Given the description of an element on the screen output the (x, y) to click on. 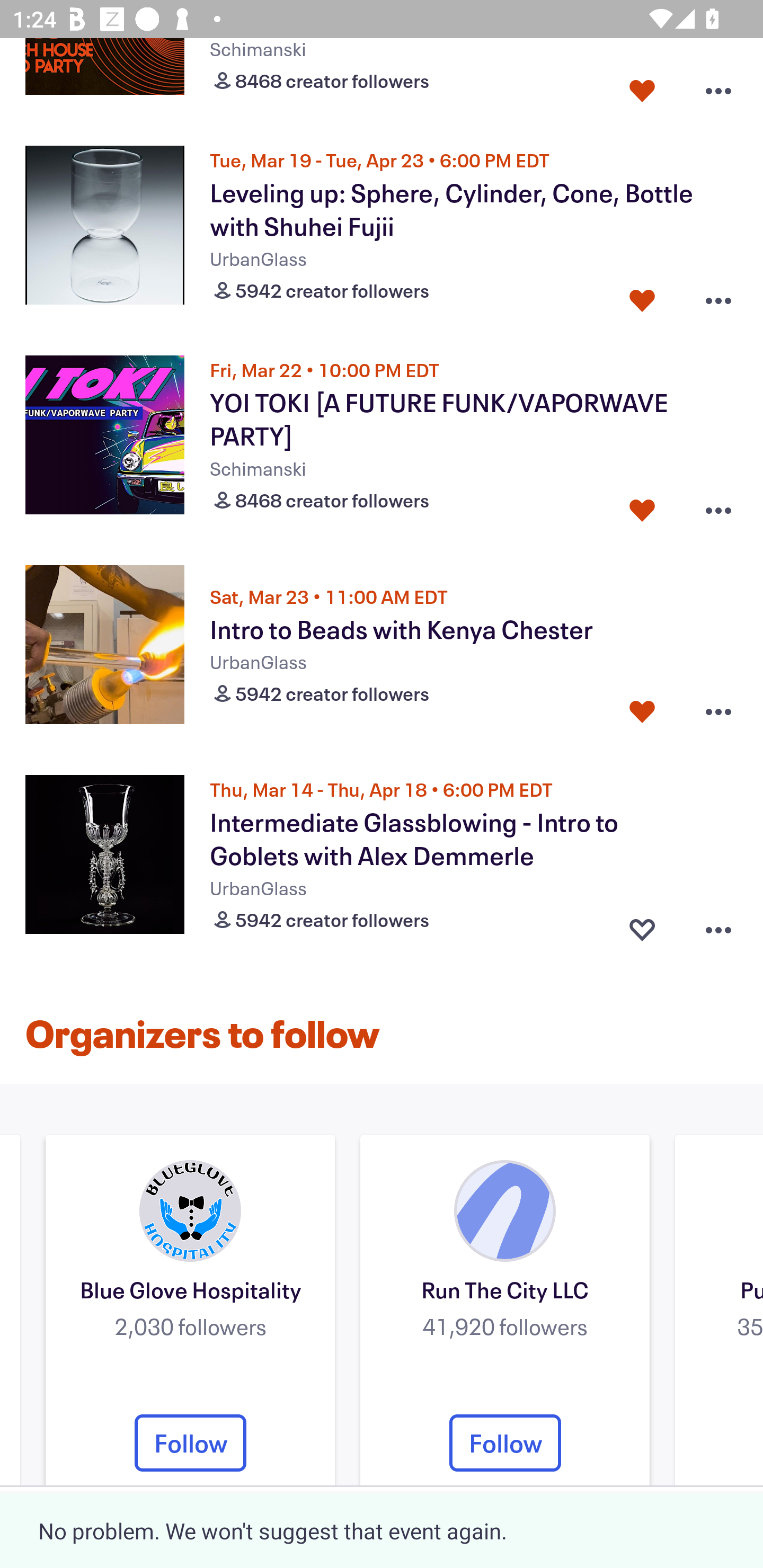
Favorite button (642, 86)
Overflow menu button (718, 86)
Favorite button (642, 296)
Overflow menu button (718, 296)
Favorite button (642, 505)
Overflow menu button (718, 505)
Favorite button (642, 711)
Overflow menu button (718, 711)
Favorite button (642, 925)
Overflow menu button (718, 925)
Follow Organizer's follow button (190, 1443)
Follow Organizer's follow button (504, 1443)
